Given the description of an element on the screen output the (x, y) to click on. 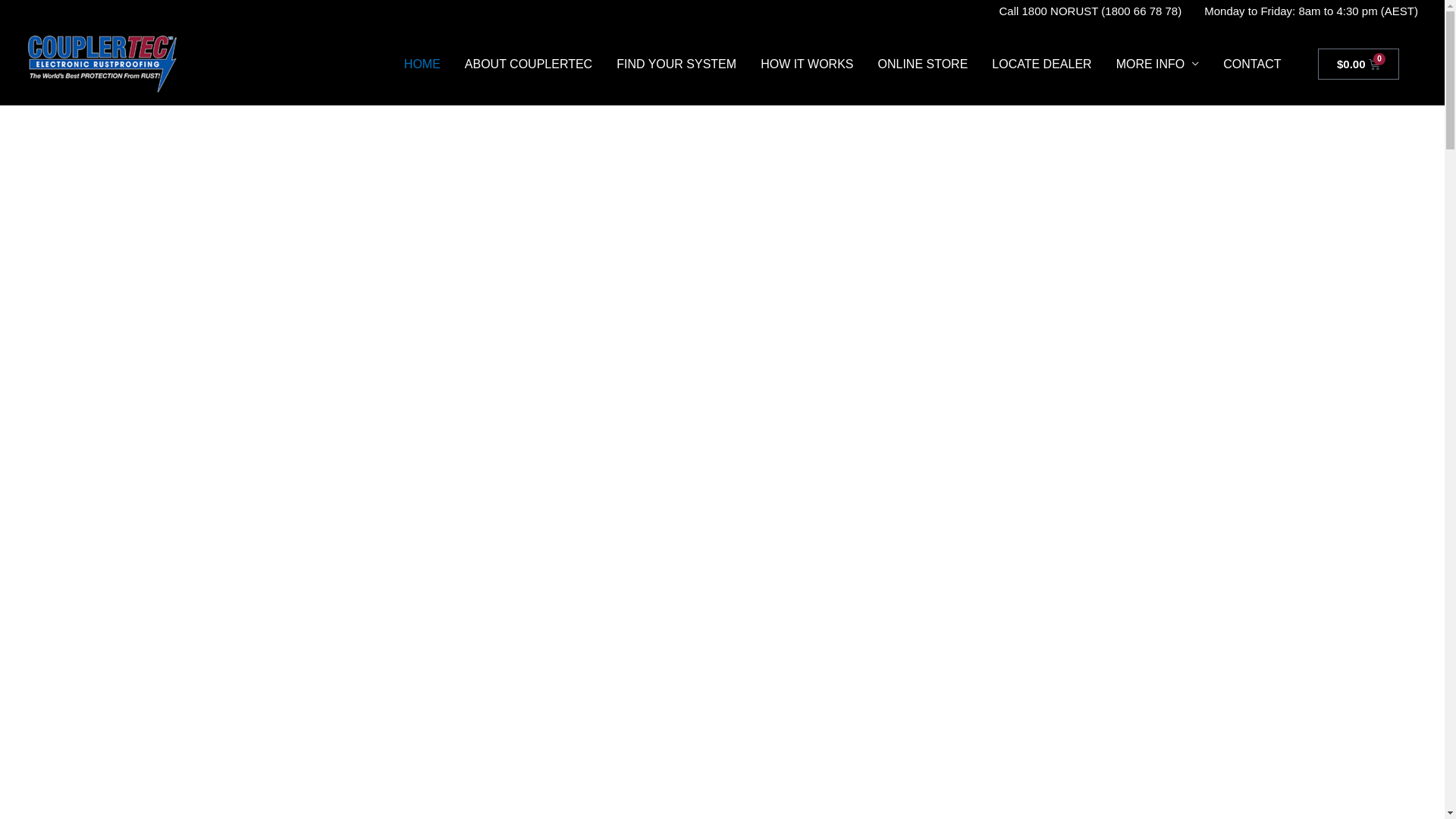
FIND YOUR SYSTEM Element type: text (676, 63)
Call 1800 NORUST (1800 66 78 78) Element type: text (1090, 11)
LOCATE DEALER Element type: text (1041, 63)
HOW IT WORKS Element type: text (806, 63)
Monday to Friday: 8am to 4:30 pm (AEST) Element type: text (1305, 11)
ONLINE STORE Element type: text (923, 63)
ABOUT COUPLERTEC Element type: text (528, 63)
MORE INFO Element type: text (1157, 63)
CONTACT Element type: text (1251, 63)
$0.00
0
Cart Element type: text (1358, 63)
HOME Element type: text (422, 63)
